Given the description of an element on the screen output the (x, y) to click on. 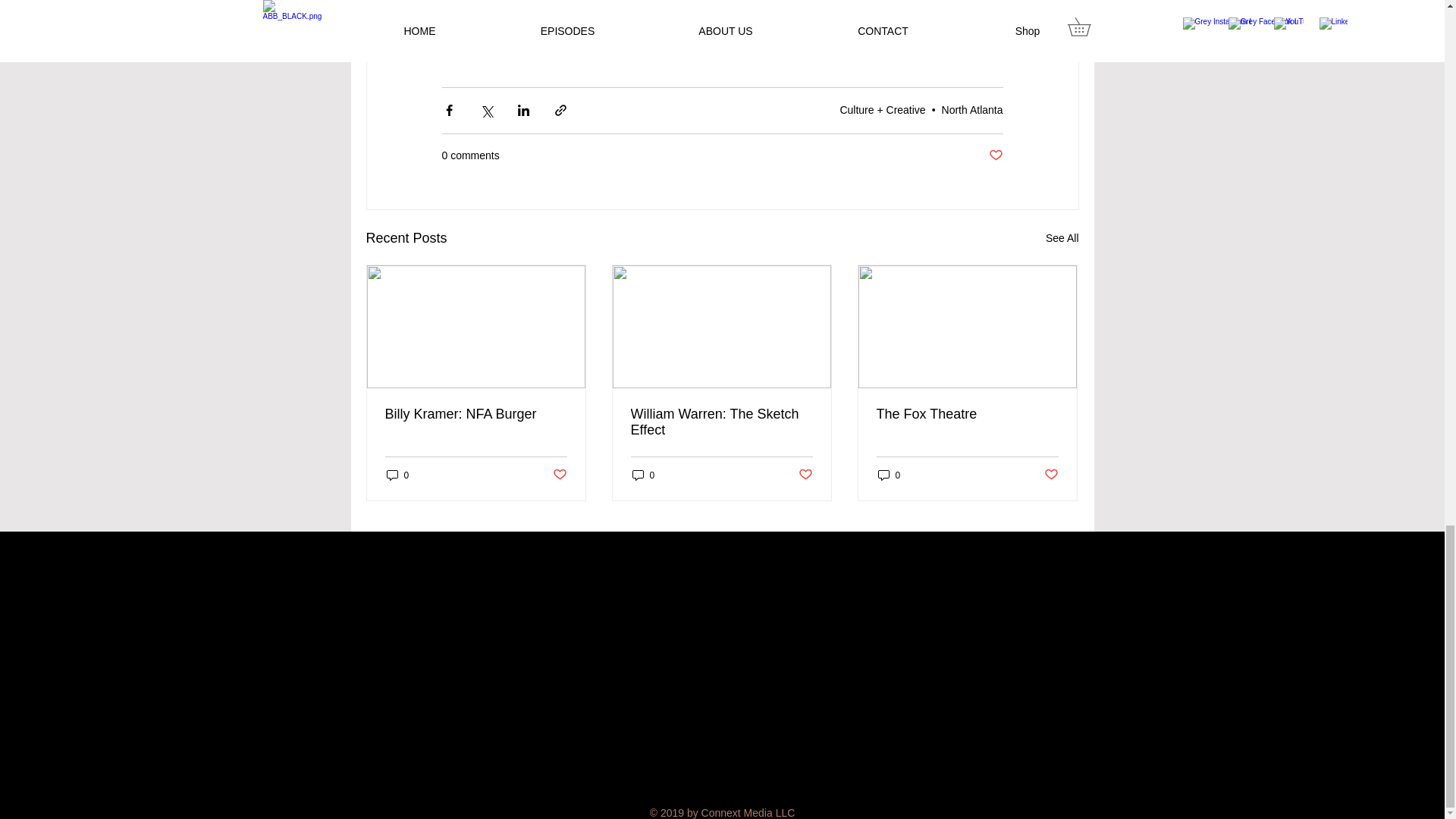
See All (1061, 238)
Post not marked as liked (995, 155)
North Atlanta (972, 110)
